Given the description of an element on the screen output the (x, y) to click on. 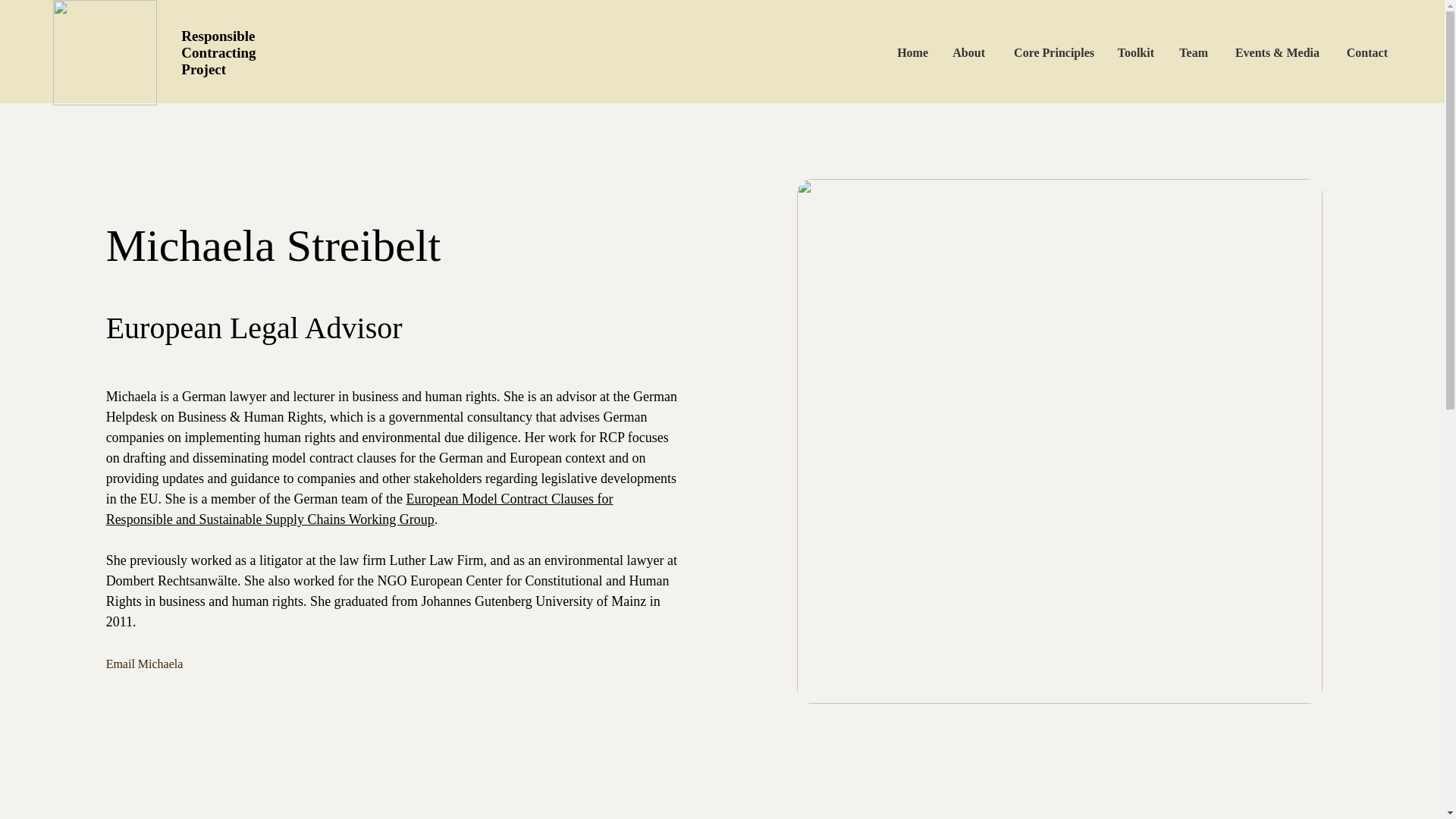
Contact (1367, 52)
About (986, 52)
Email Michaela (172, 664)
Home (932, 52)
Toolkit (1147, 52)
Team (1202, 52)
Core Principles (1066, 52)
